Given the description of an element on the screen output the (x, y) to click on. 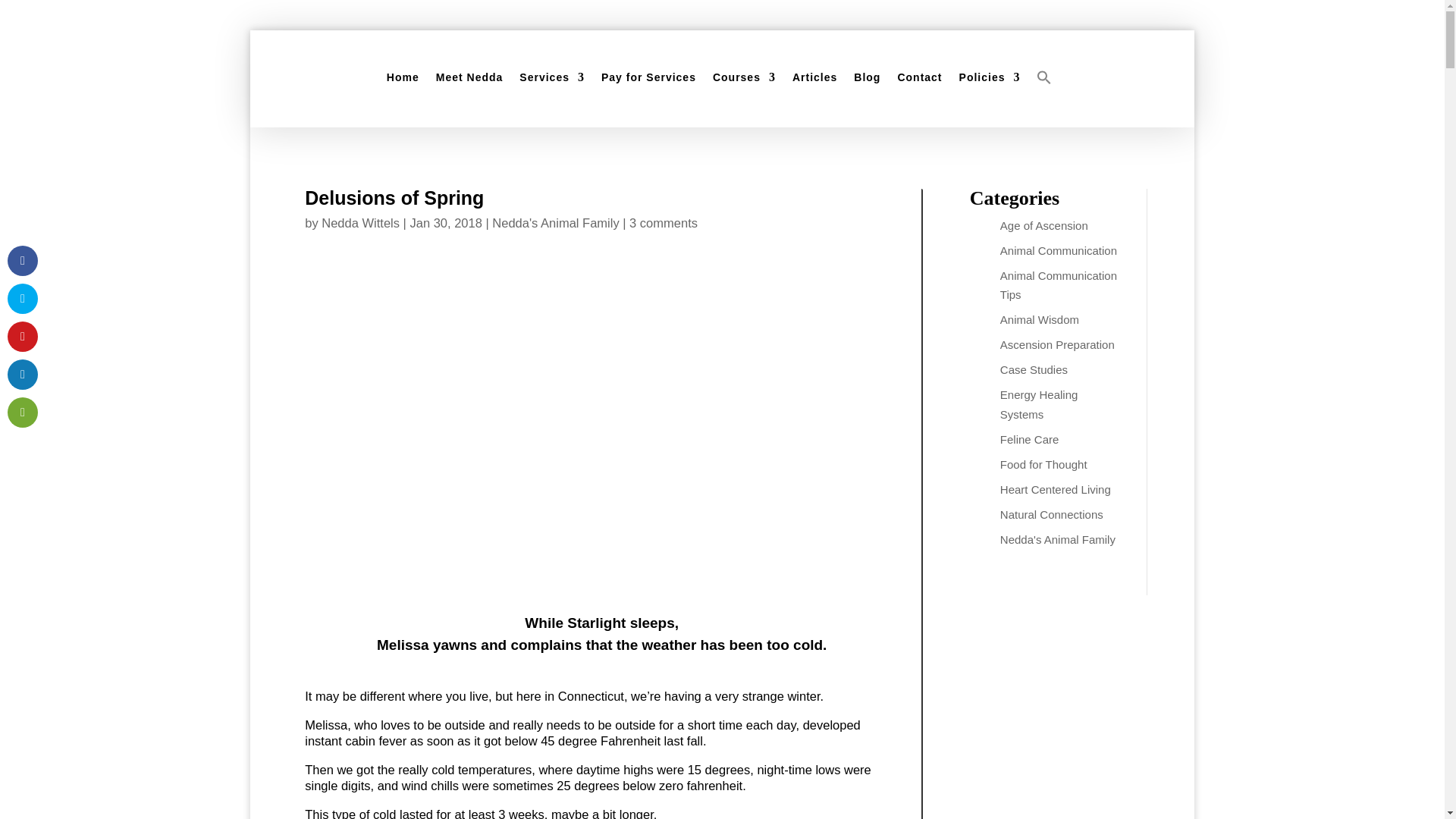
Posts by Nedda Wittels (359, 223)
Nedda Wittels (359, 223)
3 comments (662, 223)
Nedda's Animal Family (555, 223)
Pay for Services (648, 77)
